Given the description of an element on the screen output the (x, y) to click on. 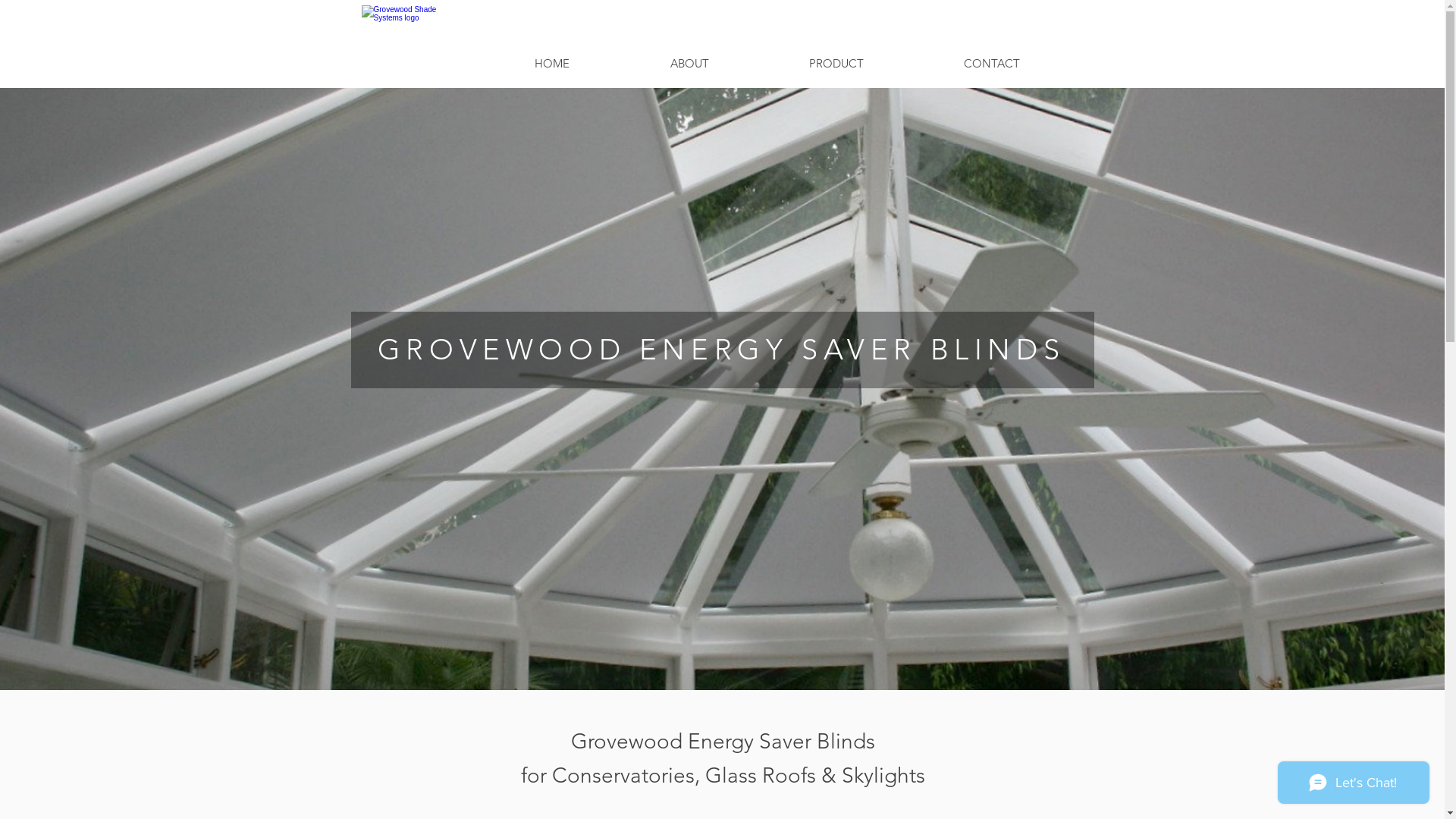
CONTACT Element type: text (991, 63)
HOME Element type: text (551, 63)
ABOUT Element type: text (689, 63)
